Given the description of an element on the screen output the (x, y) to click on. 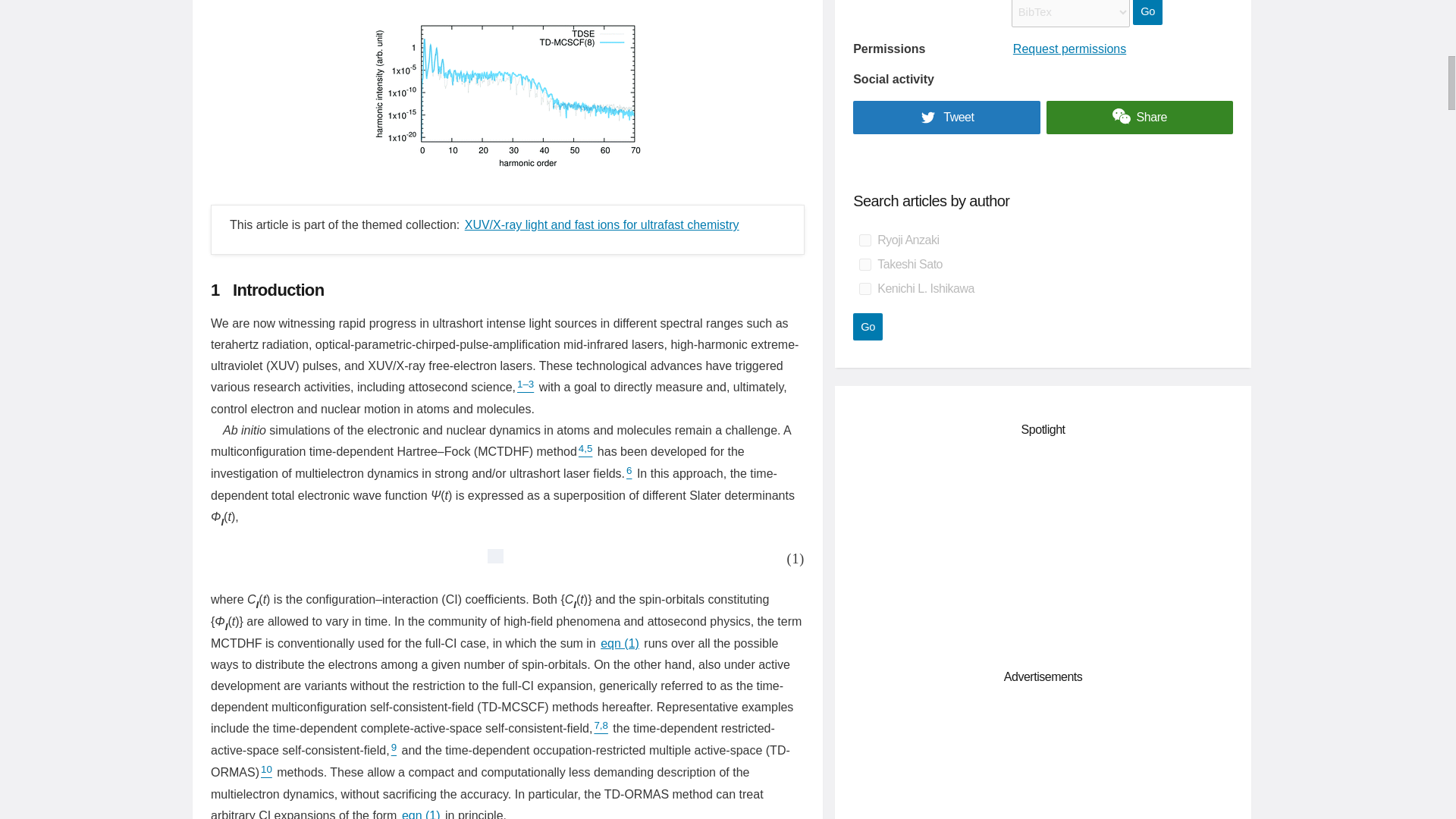
on (864, 240)
on (864, 264)
on (864, 288)
7,8 (601, 728)
4,5 (585, 451)
Select to open image in new window (489, 558)
Go (1146, 12)
Go (867, 326)
10 (266, 772)
